Given the description of an element on the screen output the (x, y) to click on. 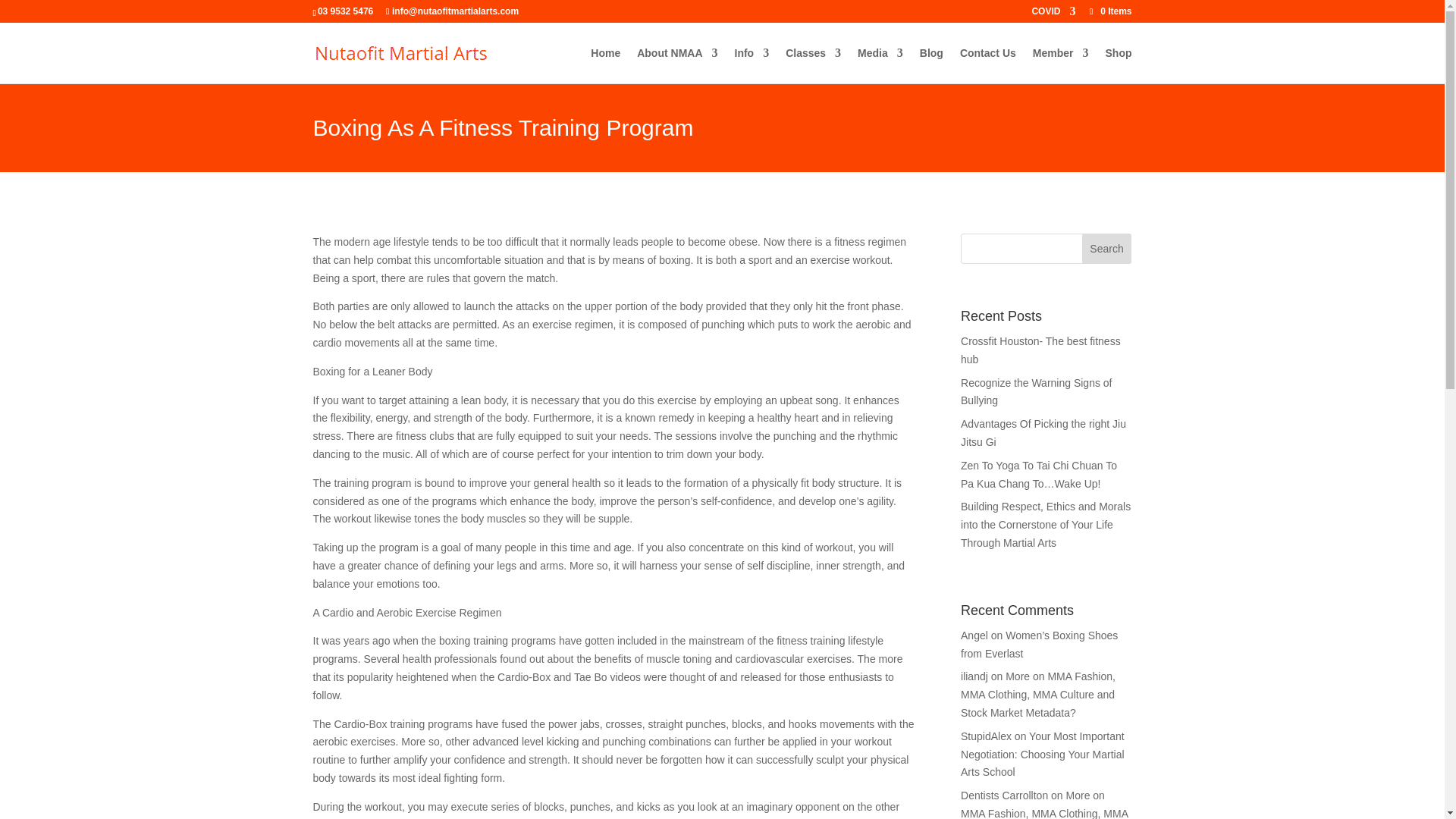
Media (879, 65)
Member (1060, 65)
Classes (813, 65)
About NMAA (677, 65)
Search (1106, 248)
COVID (1052, 14)
Contact Us (987, 65)
Info (752, 65)
0 Items (1108, 10)
